Given the description of an element on the screen output the (x, y) to click on. 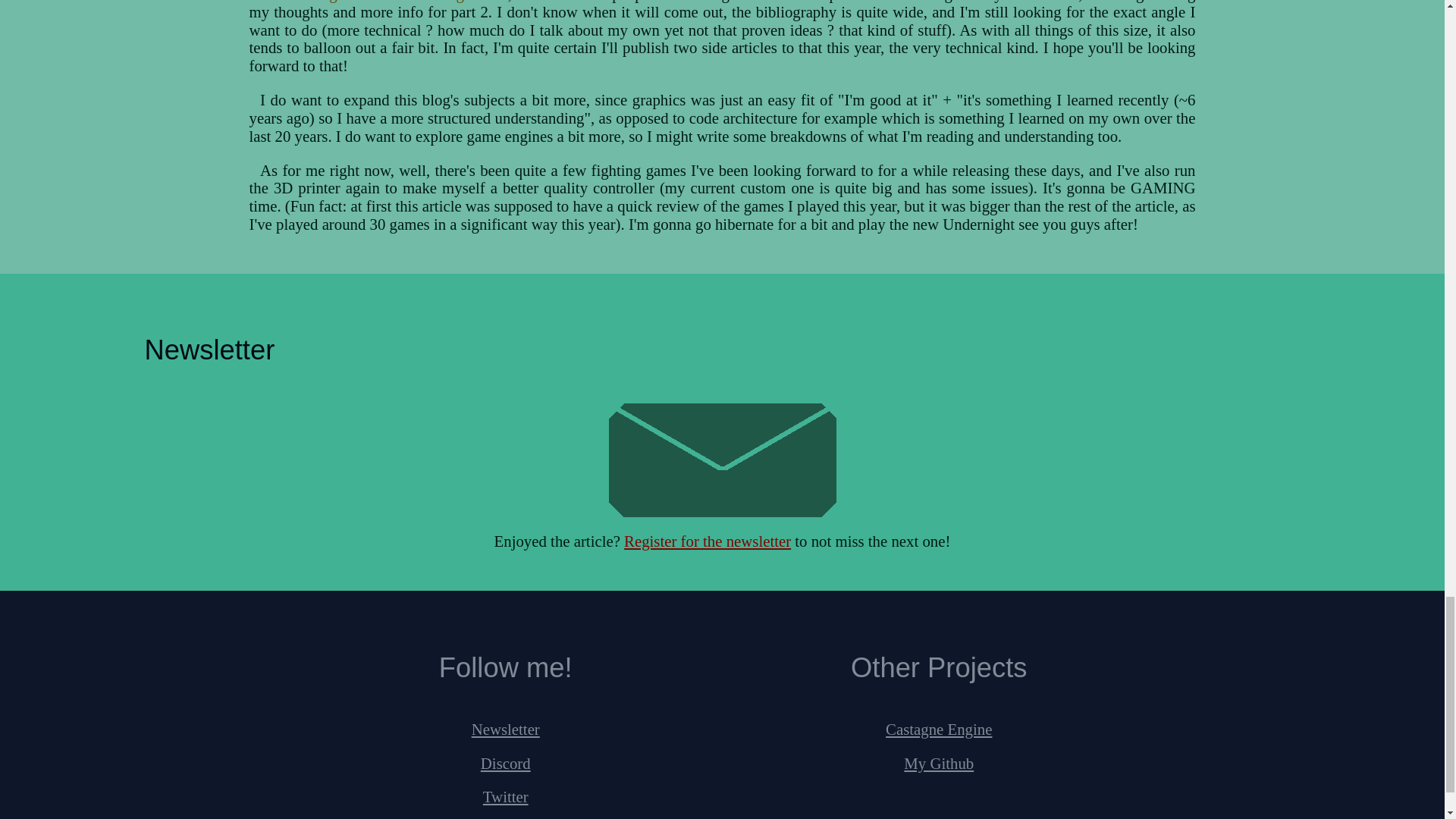
My Github (939, 762)
Discord (505, 762)
Newsletter (505, 728)
Twitter (505, 796)
Register for the newsletter (707, 540)
Castagne Engine (938, 728)
